Given the description of an element on the screen output the (x, y) to click on. 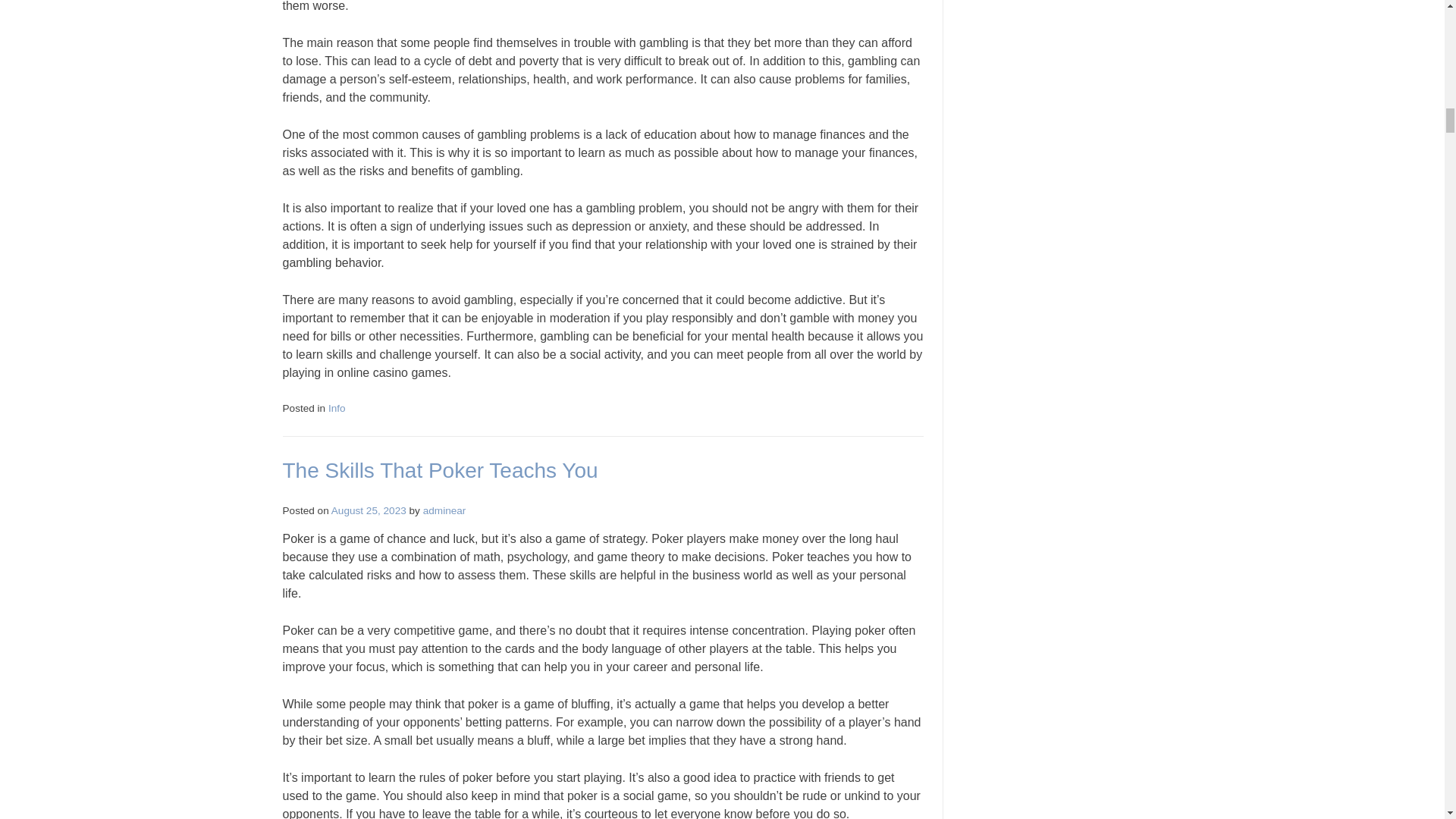
The Skills That Poker Teachs You (439, 470)
Info (337, 408)
adminear (444, 510)
August 25, 2023 (368, 510)
